Given the description of an element on the screen output the (x, y) to click on. 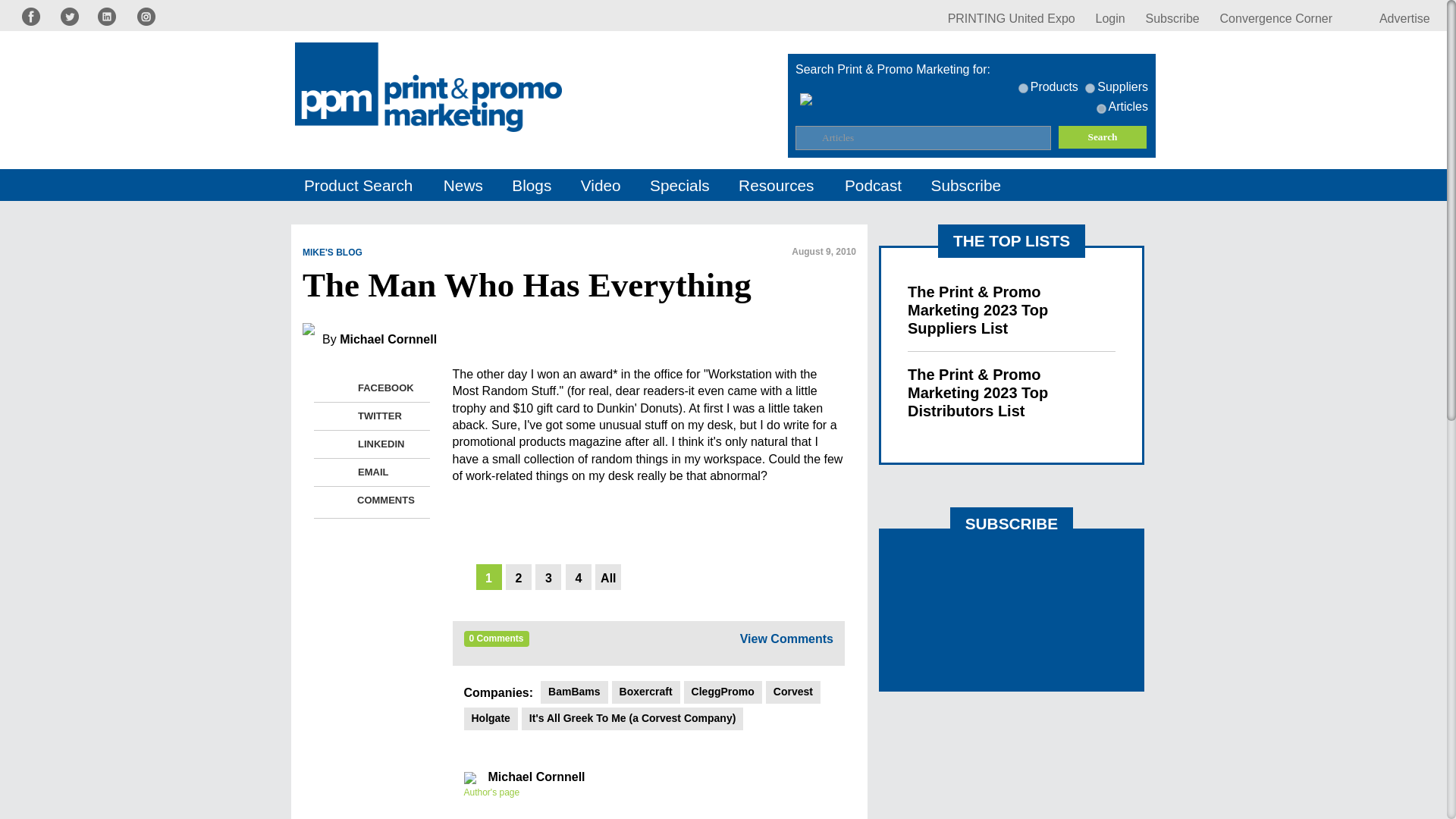
Convergence Corner (1276, 18)
Product Search (359, 185)
LinkedIn (339, 444)
Twitter (339, 415)
Email Link (339, 472)
suppliers (1089, 88)
Search (1102, 137)
keyword (1022, 88)
Search (1102, 137)
Subscribe (1172, 18)
PRINTING United Expo (1011, 18)
Advertise (1390, 18)
Facebook (339, 388)
Login (1110, 18)
editorial (1101, 108)
